Given the description of an element on the screen output the (x, y) to click on. 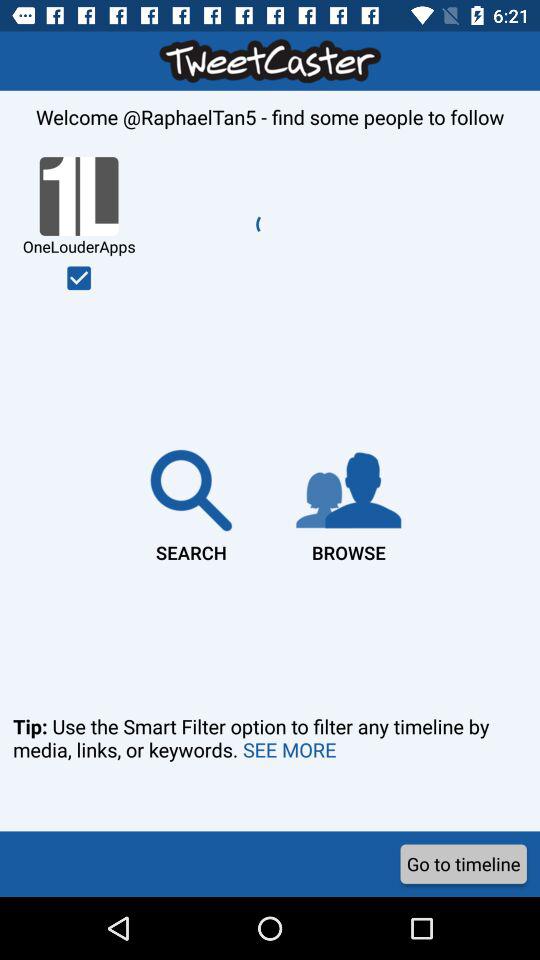
follow (79, 278)
